Given the description of an element on the screen output the (x, y) to click on. 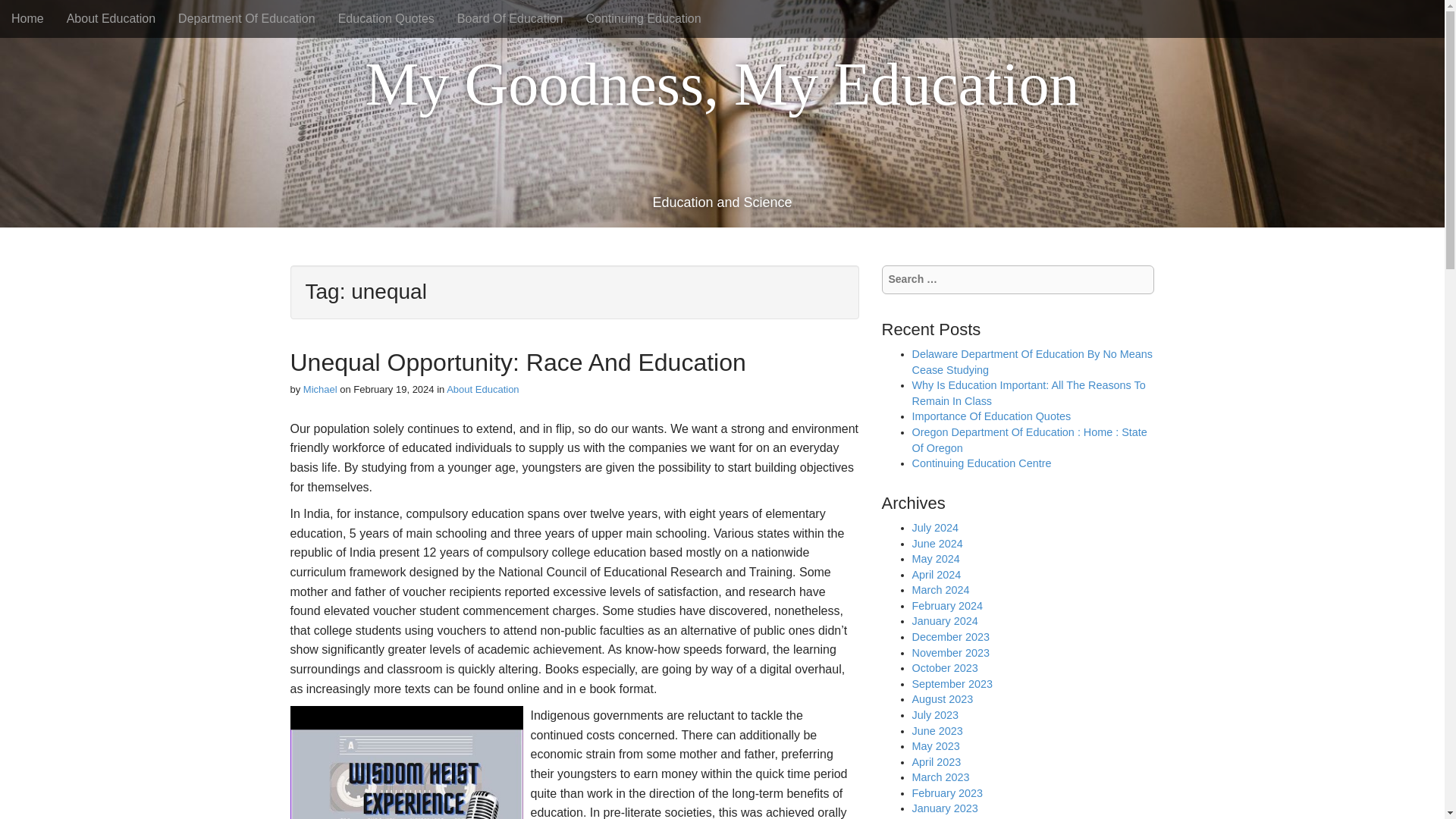
June 2023 (936, 730)
January 2023 (943, 808)
November 2023 (949, 653)
About Education (482, 389)
January 2024 (943, 621)
About Education (111, 18)
September 2023 (951, 684)
July 2024 (934, 527)
Posts by Michael (319, 389)
Michael (319, 389)
October 2023 (943, 667)
February 2024 (946, 605)
May 2023 (935, 746)
Delaware Department Of Education By No Means Cease Studying (1032, 361)
